Given the description of an element on the screen output the (x, y) to click on. 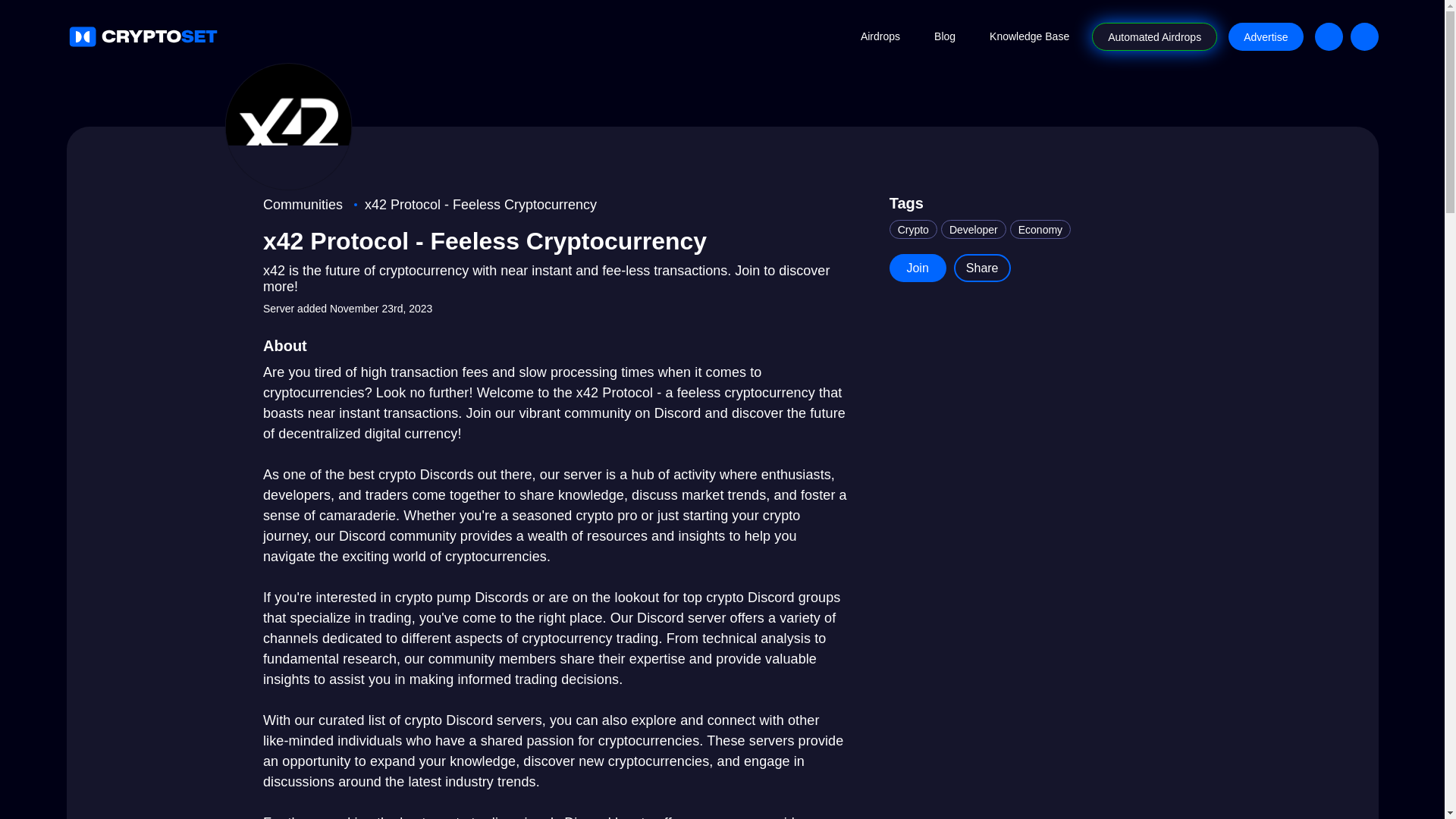
Share (981, 267)
Knowledge Base (1029, 36)
Crypto (913, 229)
Airdrops (879, 36)
Join (917, 267)
Advertise (1265, 36)
x42 Protocol - Feeless Cryptocurrency (480, 204)
Automated Airdrops (1154, 36)
Developer (973, 229)
Communities (302, 204)
